Given the description of an element on the screen output the (x, y) to click on. 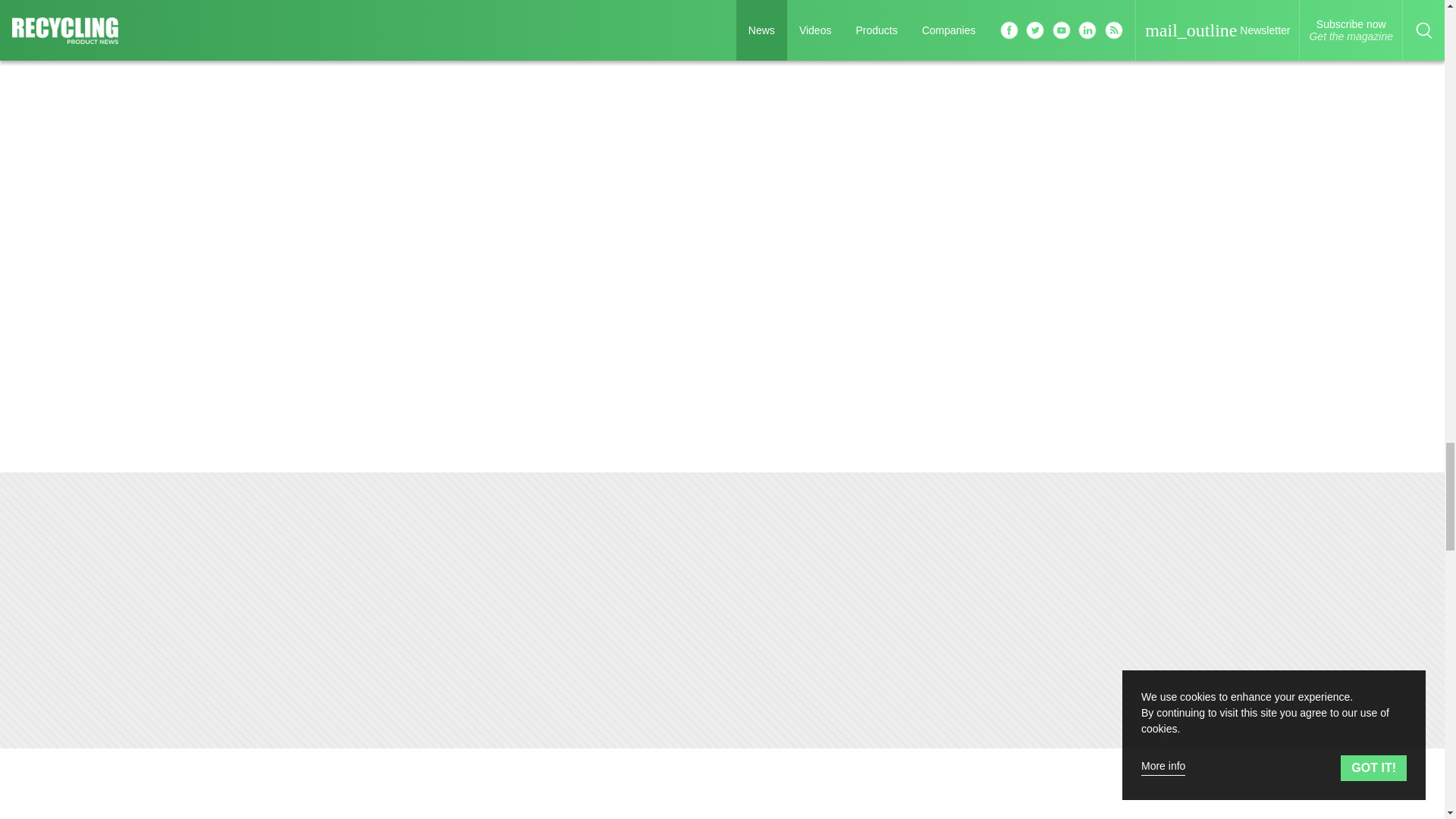
3rd party ad content (1125, 804)
